Given the description of an element on the screen output the (x, y) to click on. 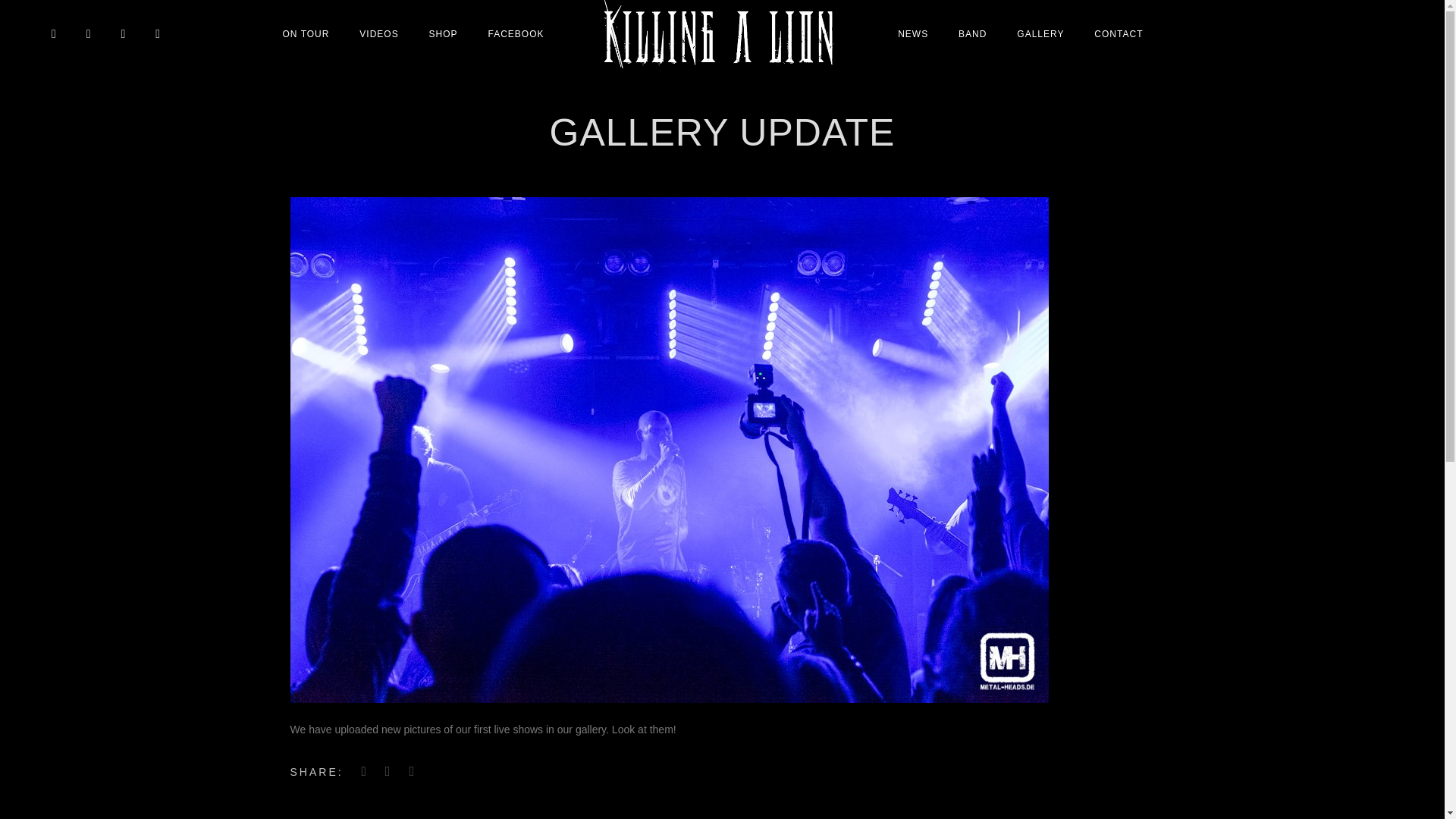
GALLERY (1040, 33)
SHOP (442, 33)
VIDEOS (379, 33)
BAND (972, 33)
ON TOUR (306, 33)
FACEBOOK (515, 33)
NEWS (912, 33)
CONTACT (1118, 33)
